Given the description of an element on the screen output the (x, y) to click on. 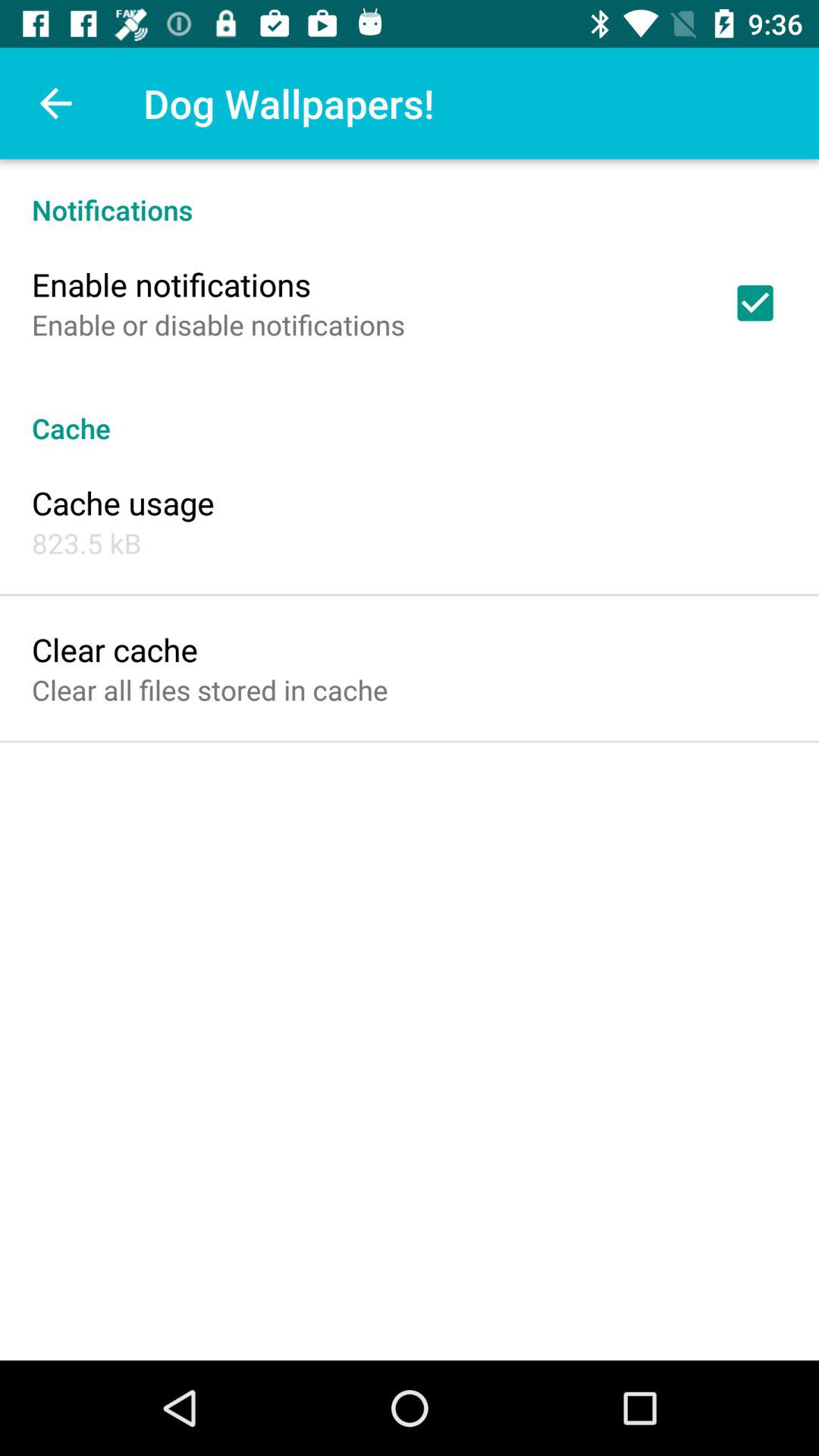
turn off the item below clear cache item (209, 689)
